Given the description of an element on the screen output the (x, y) to click on. 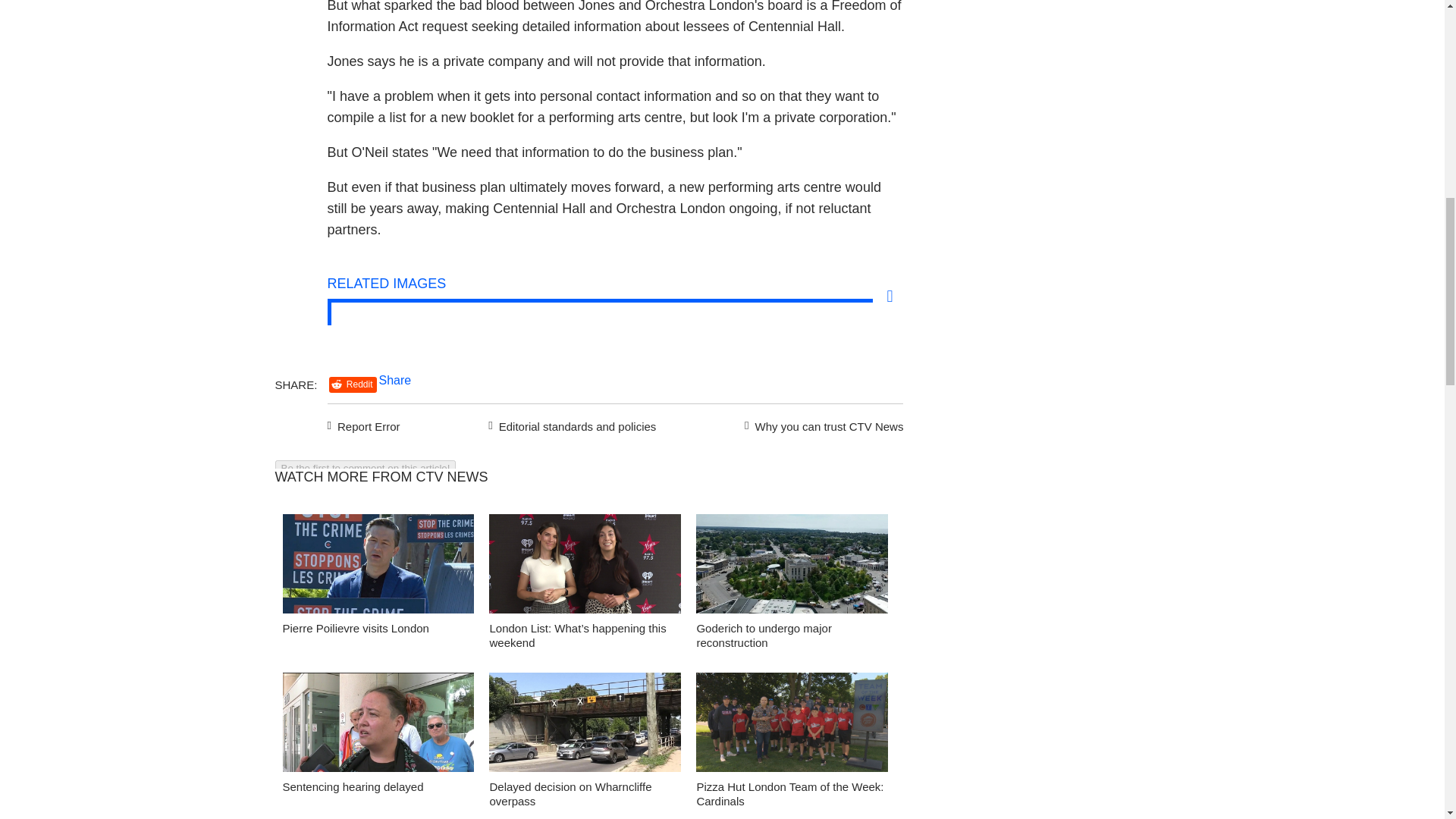
Sentencing hearing delayed (352, 786)
Report Error (363, 424)
false (585, 722)
Pierre Poilievre visits London (378, 567)
Share (395, 379)
false (585, 563)
Why you can trust CTV News (820, 424)
false (791, 722)
Two disruptions at what was supposed to be a sente (378, 726)
Be the first to comment on this article! (365, 467)
